Given the description of an element on the screen output the (x, y) to click on. 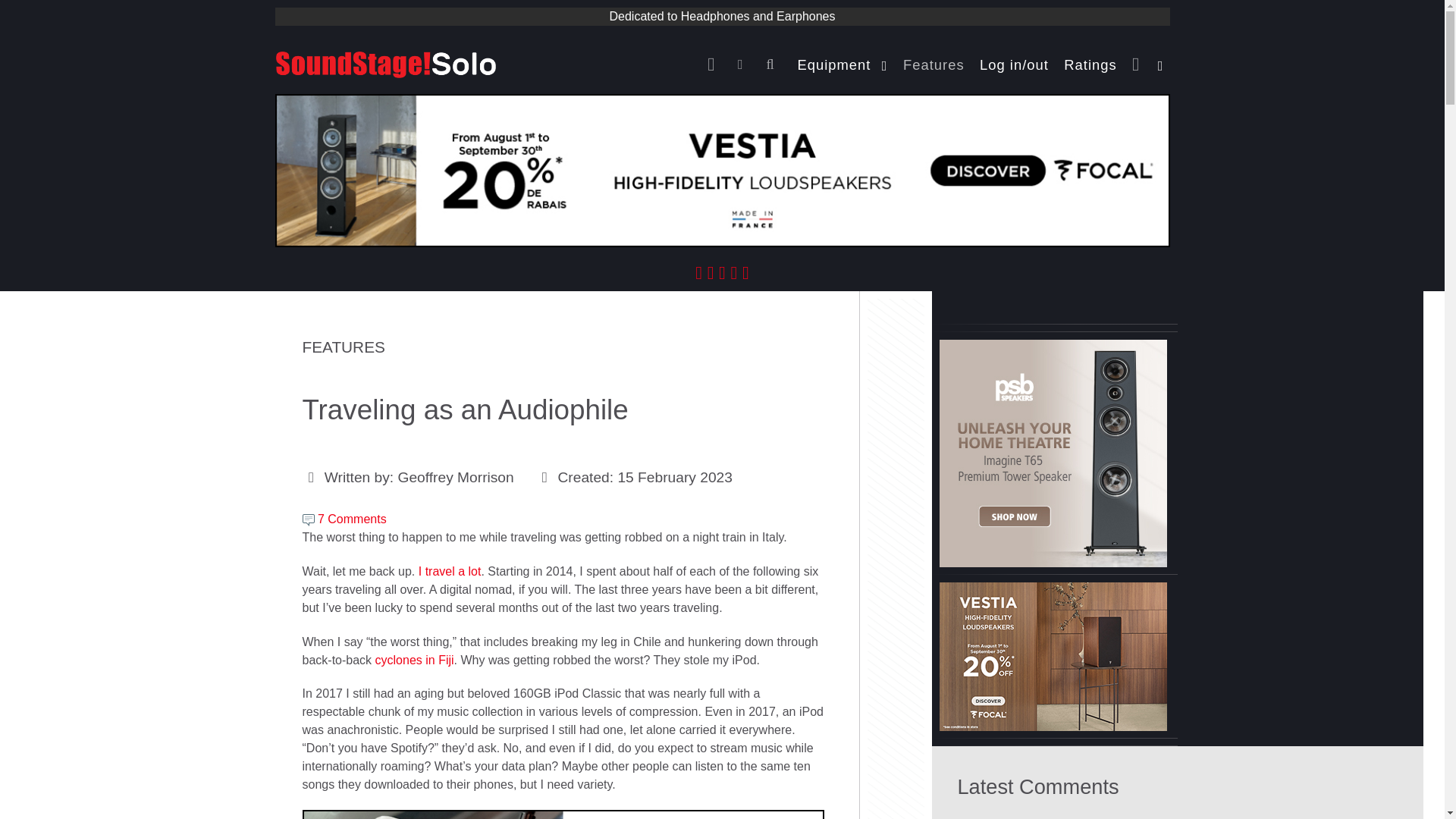
Solo. (385, 62)
Ratings (1090, 64)
Home (714, 64)
Equipment (842, 64)
Features (933, 64)
